Given the description of an element on the screen output the (x, y) to click on. 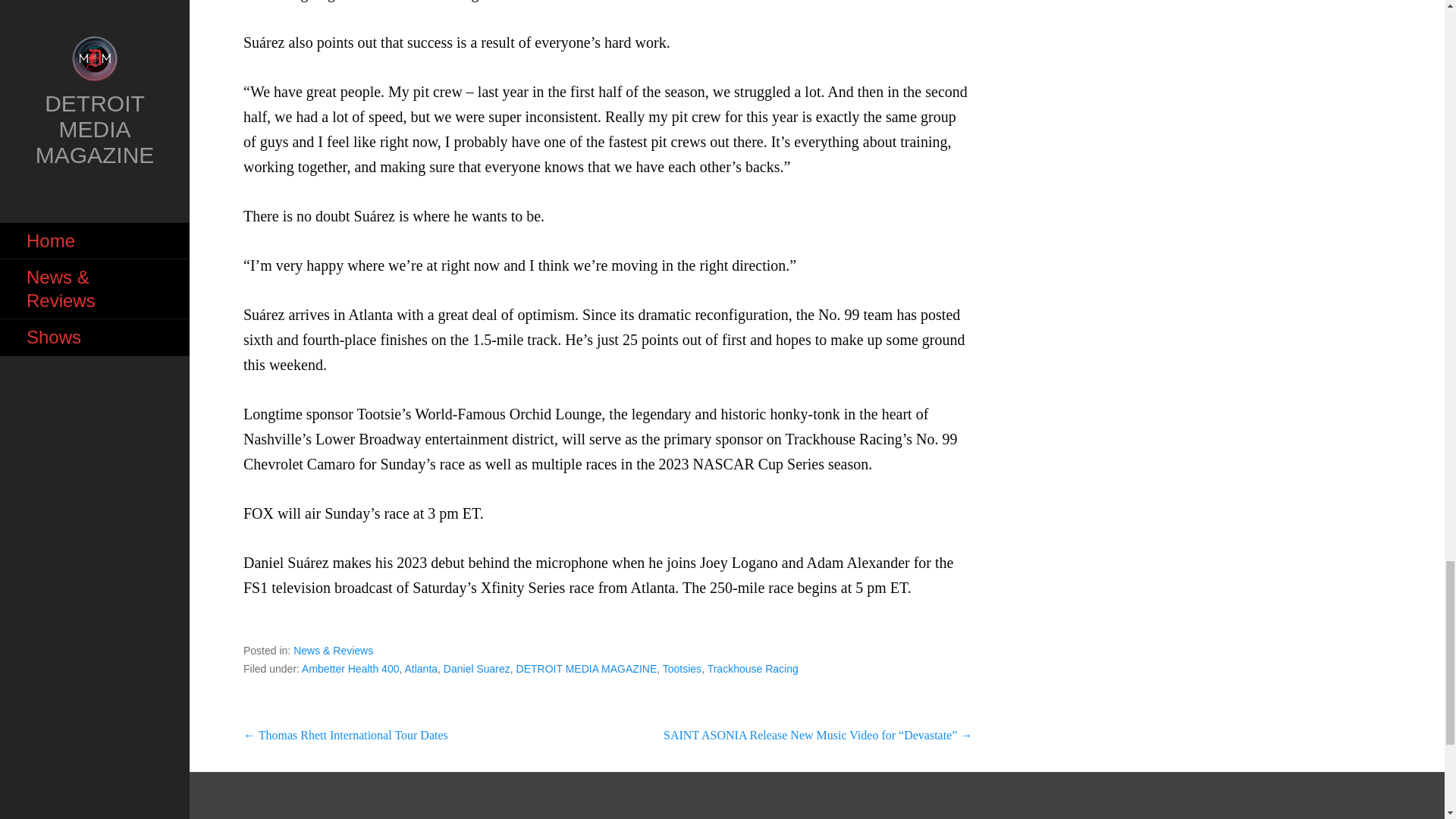
Ambetter Health 400 (349, 668)
Trackhouse Racing (752, 668)
Daniel Suarez (477, 668)
DETROIT MEDIA MAGAZINE (587, 668)
Tootsies (681, 668)
Atlanta (421, 668)
